Given the description of an element on the screen output the (x, y) to click on. 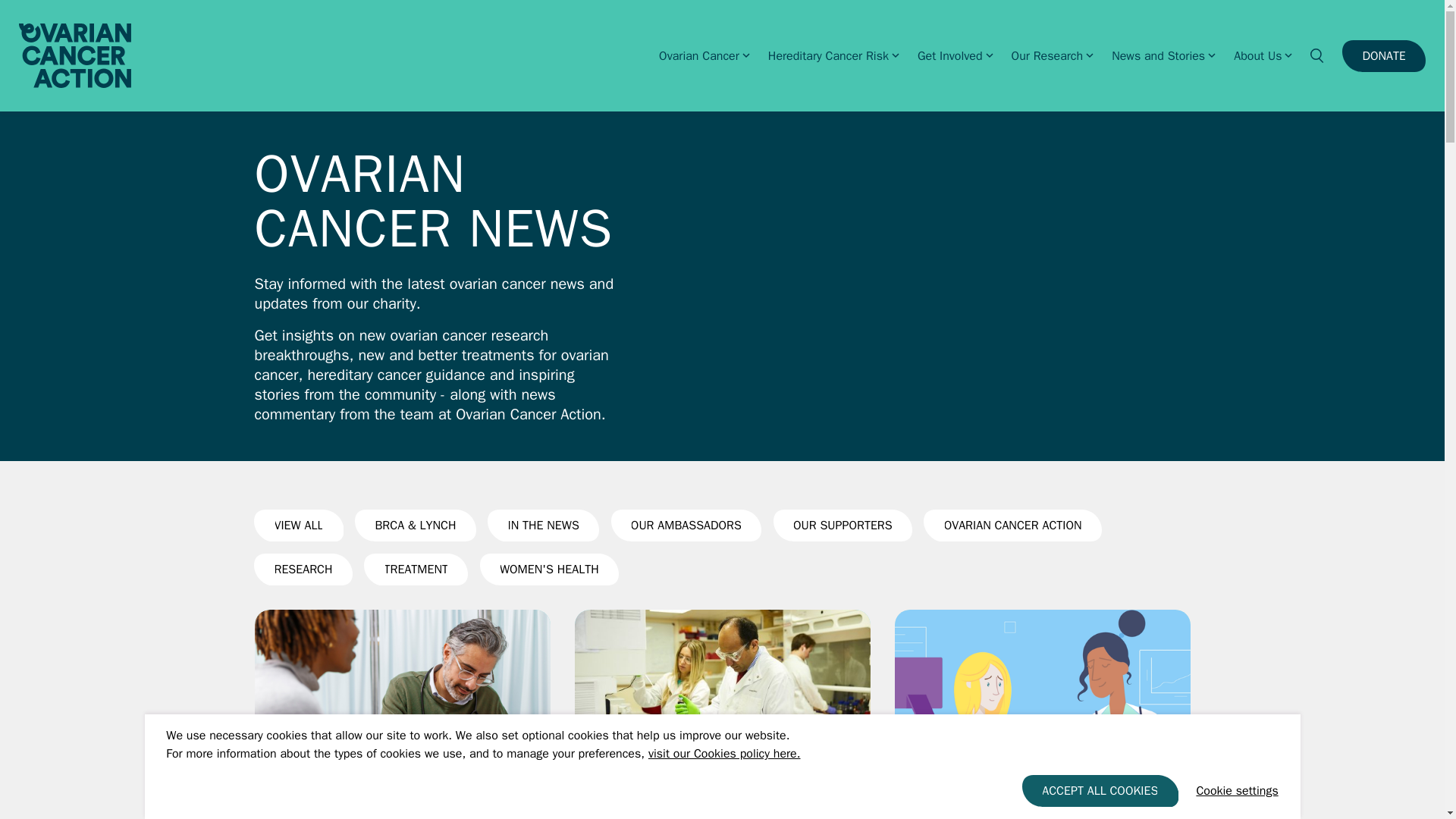
Cookie settings (1236, 791)
visit our Cookies policy here. (723, 753)
ACCEPT ALL COOKIES (1099, 790)
